Given the description of an element on the screen output the (x, y) to click on. 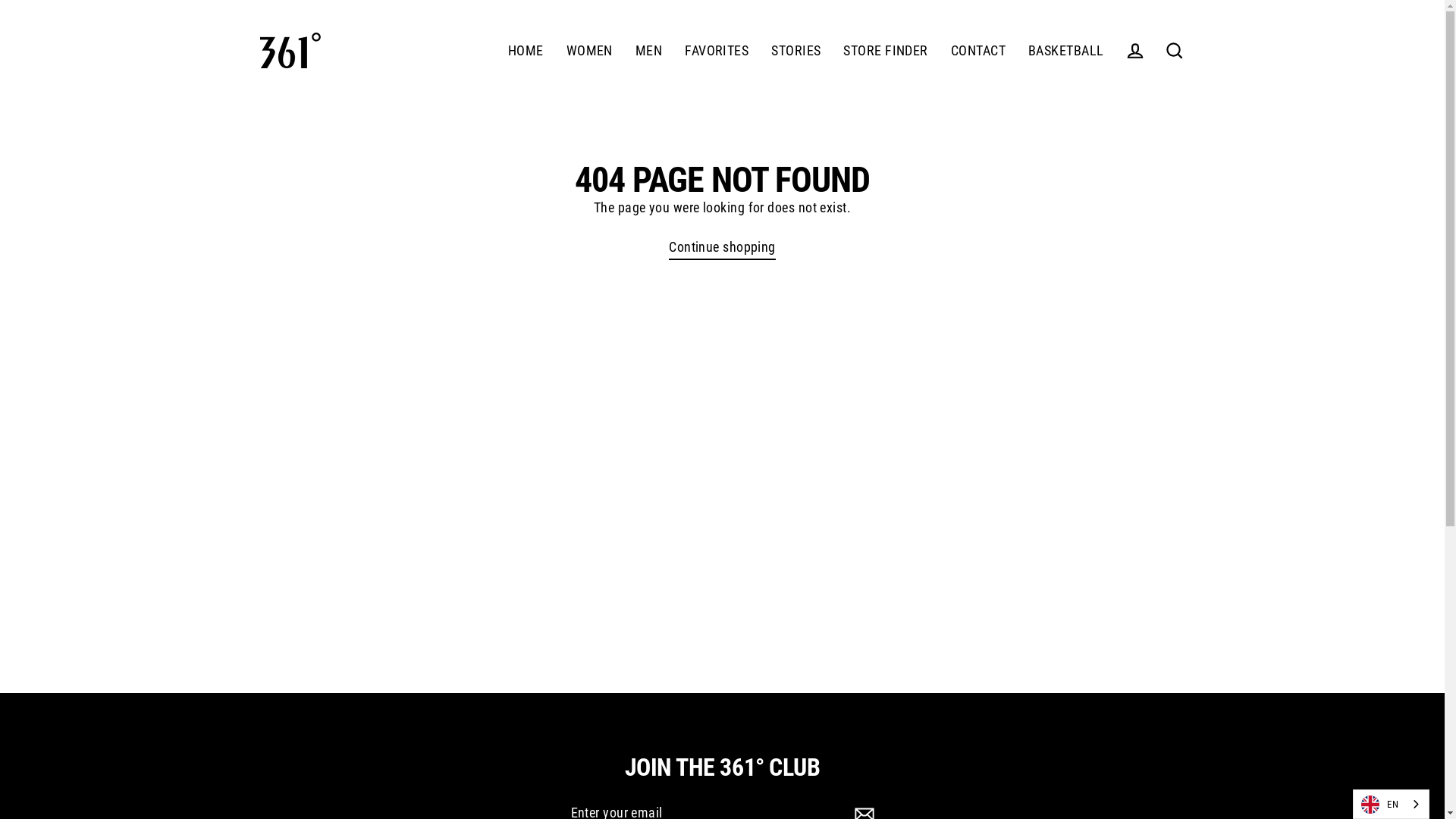
STORIES Element type: text (795, 50)
SEARCH Element type: text (1173, 50)
LOG IN Element type: text (1134, 50)
MEN Element type: text (648, 50)
HOME Element type: text (525, 50)
EN Element type: text (1390, 804)
Skip to content Element type: text (0, 0)
Continue shopping Element type: text (721, 248)
CONTACT Element type: text (977, 50)
BASKETBALL Element type: text (1065, 50)
STORE FINDER Element type: text (884, 50)
WOMEN Element type: text (589, 50)
FAVORITES Element type: text (716, 50)
